Given the description of an element on the screen output the (x, y) to click on. 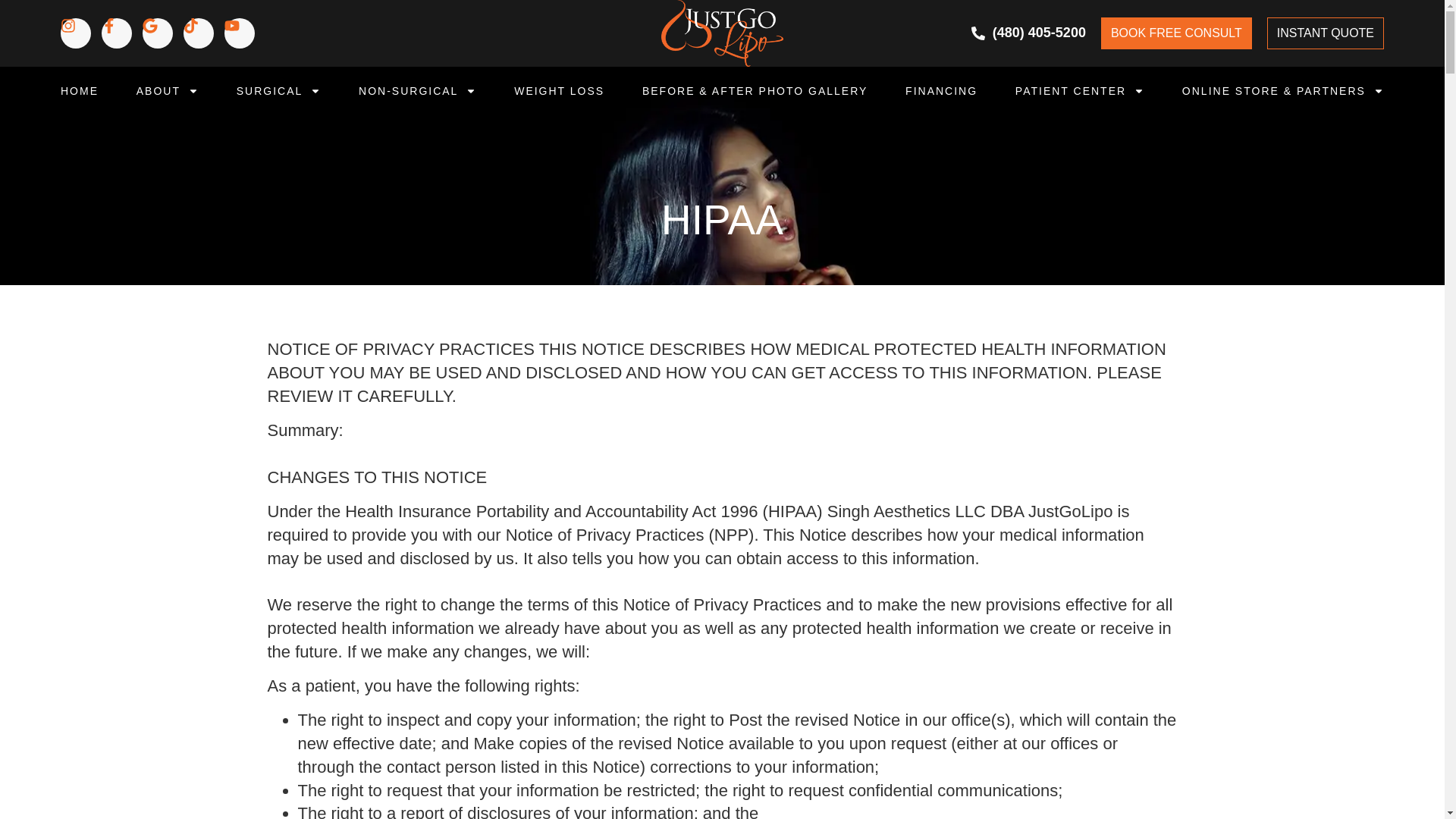
SURGICAL (278, 90)
BOOK FREE CONSULT (1176, 33)
HOME (81, 90)
NON-SURGICAL (417, 90)
ABOUT (167, 90)
INSTANT QUOTE (1325, 33)
